Given the description of an element on the screen output the (x, y) to click on. 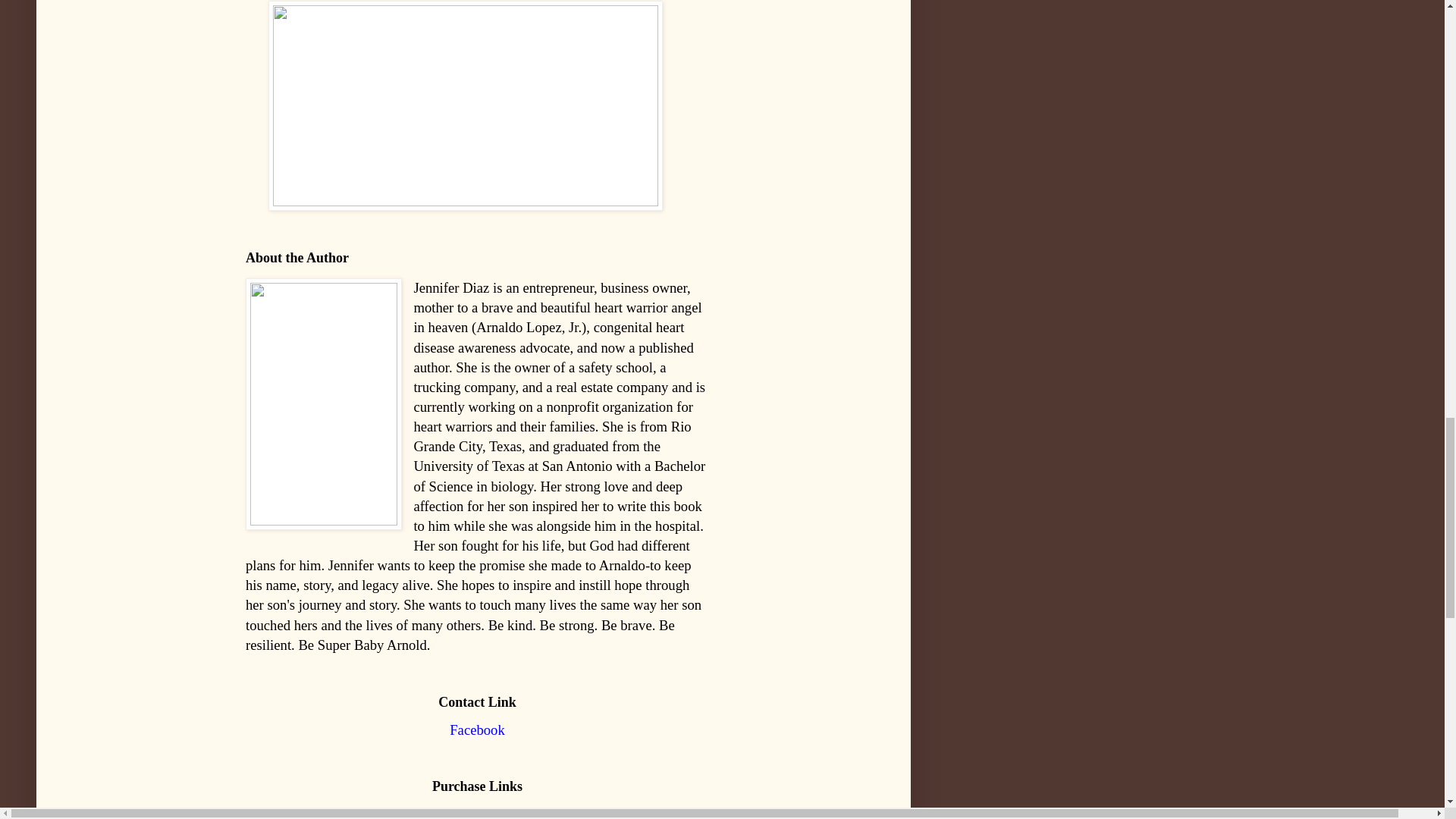
Amazon (476, 812)
Facebook (477, 729)
